Given the description of an element on the screen output the (x, y) to click on. 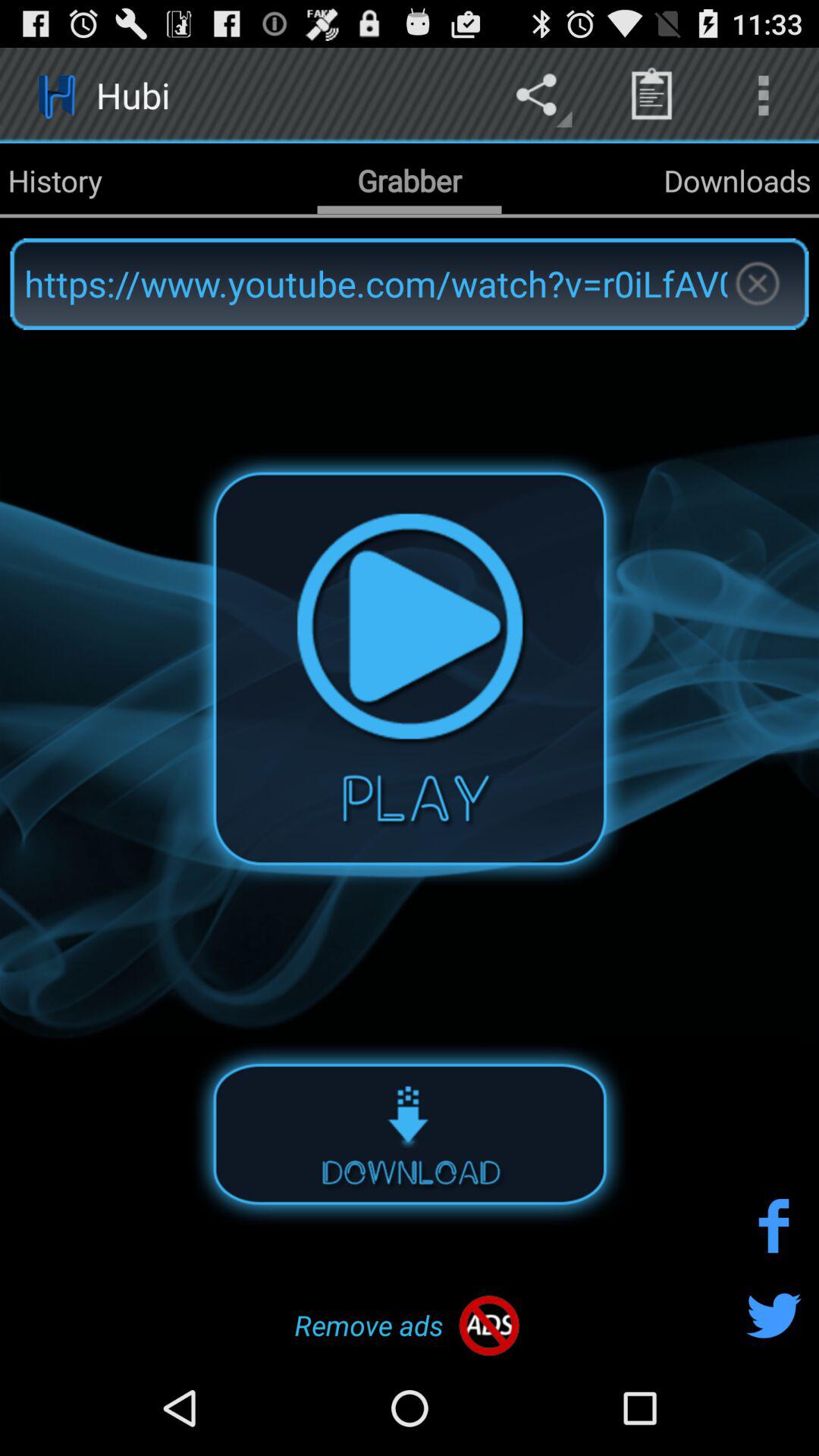
plays the video (409, 667)
